Given the description of an element on the screen output the (x, y) to click on. 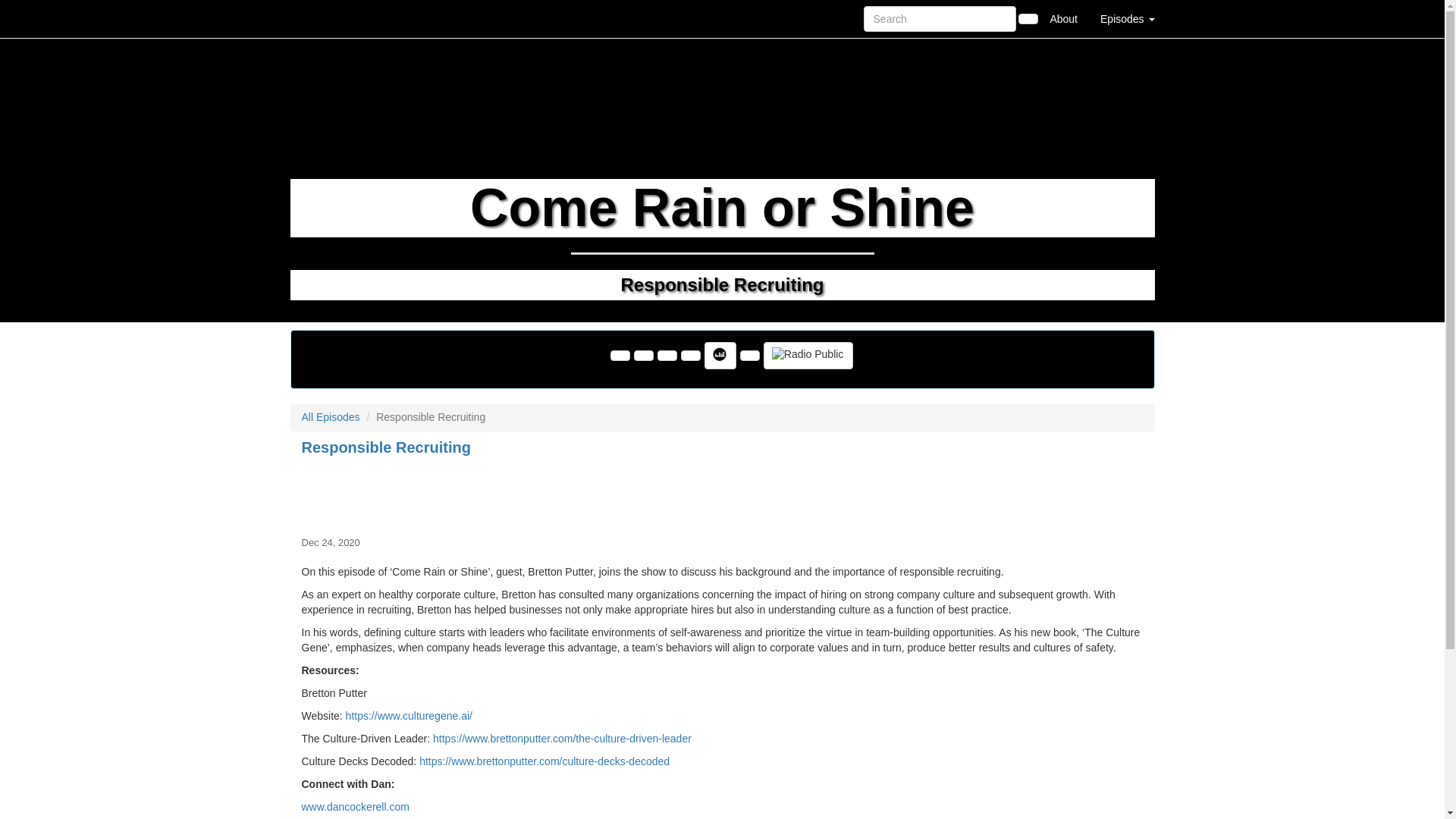
Subscribe to RSS Feed (690, 355)
Home Page (320, 18)
Listen on Apple Podcasts (749, 355)
Responsible Recruiting (721, 493)
Episodes (1127, 18)
Listen on Radio Public (807, 355)
Visit Us on Twitter (643, 355)
Visit Us on Facebook (620, 355)
Listen on Deezer (720, 355)
About (1063, 18)
Email This Podcast (667, 355)
